Given the description of an element on the screen output the (x, y) to click on. 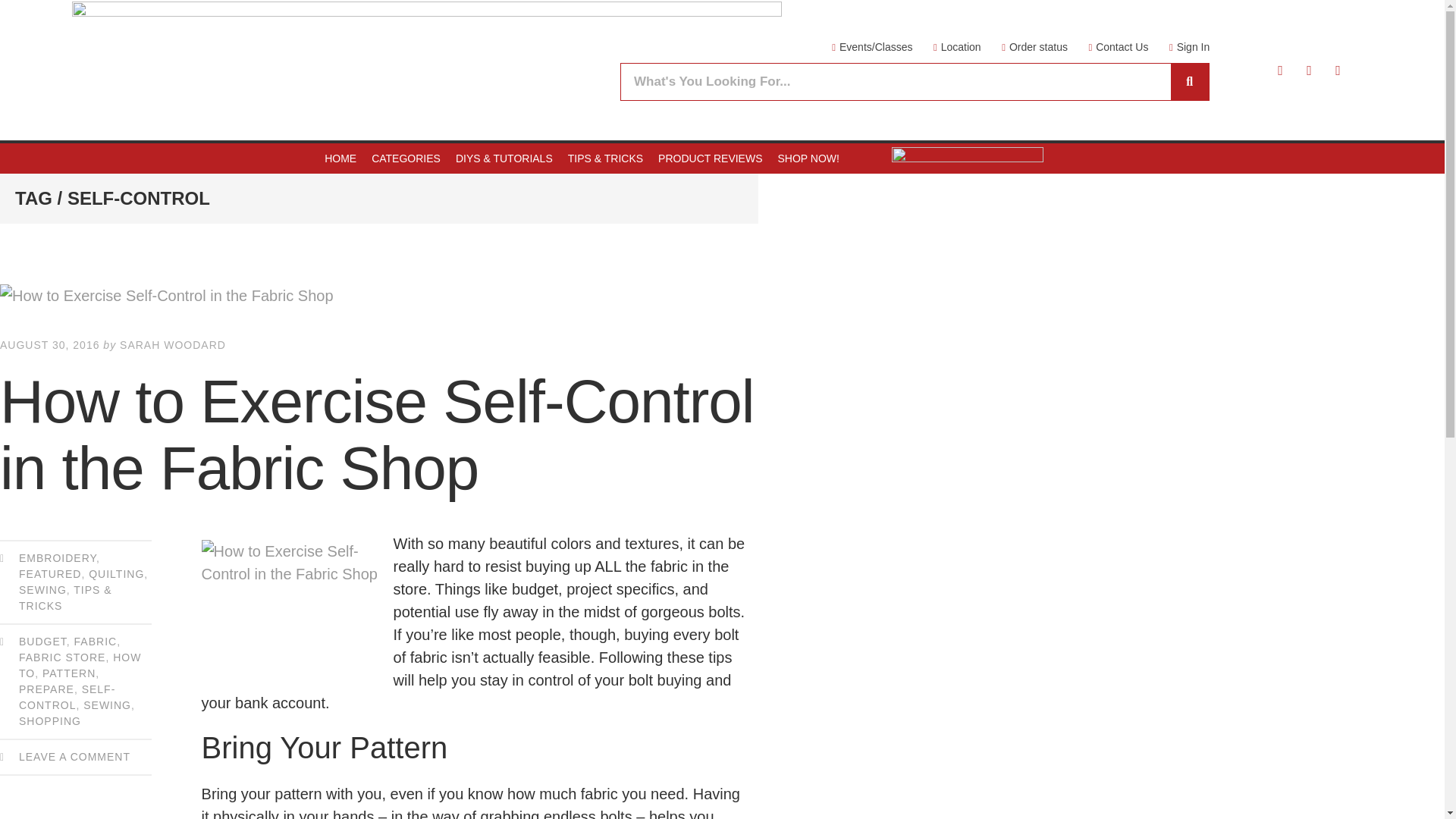
PRODUCT REVIEWS (709, 158)
Search (1189, 81)
SHOP NOW! (808, 158)
CATEGORIES (406, 158)
Search (895, 81)
HOME (340, 158)
How to Exercise Self-Control in the Fabric Shop (379, 295)
